Given the description of an element on the screen output the (x, y) to click on. 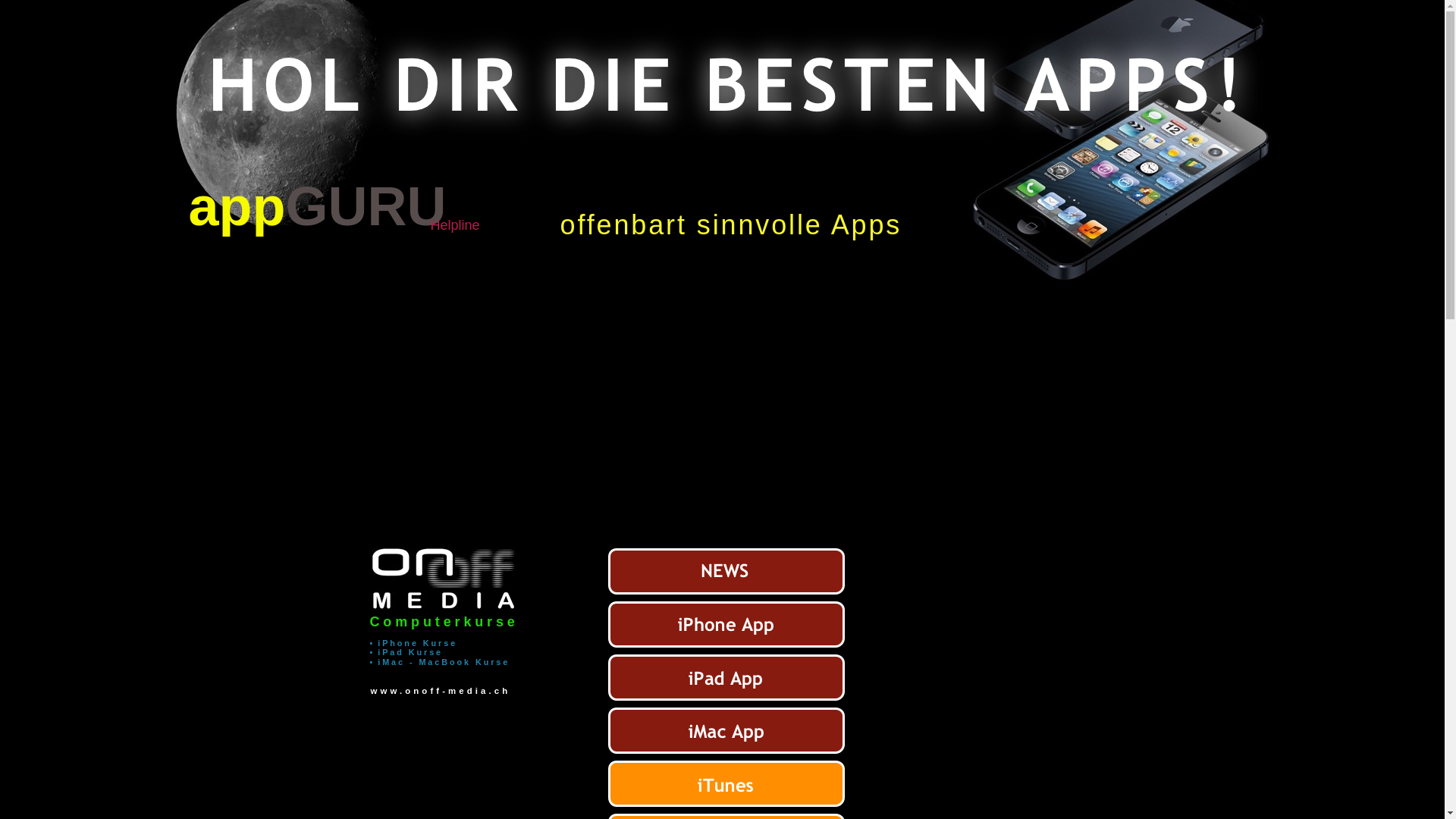
http://www.onoff-media.ch Element type: hover (443, 605)
www.onoff-media.ch Element type: text (440, 690)
